Given the description of an element on the screen output the (x, y) to click on. 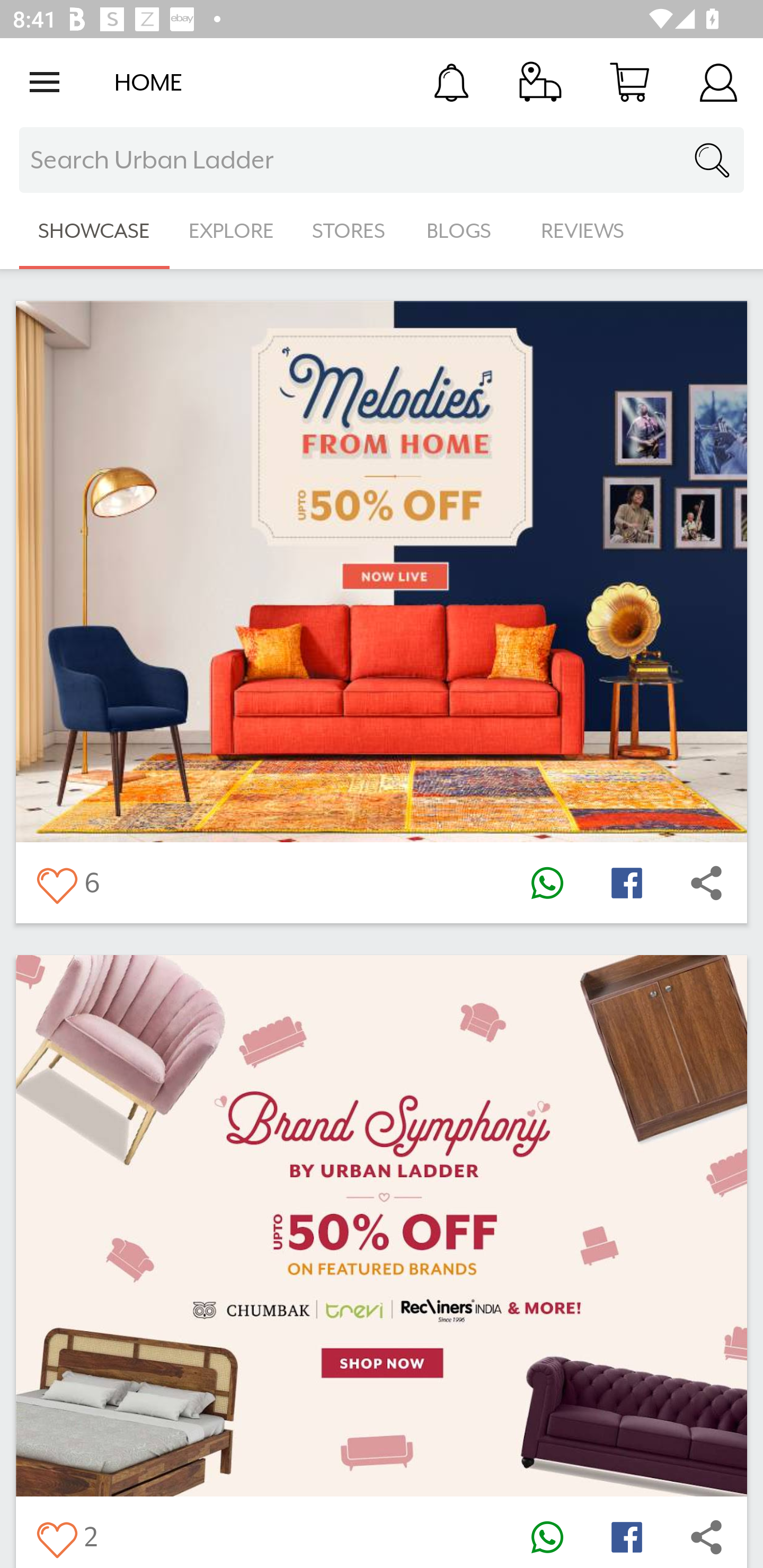
Open navigation drawer (44, 82)
Notification (450, 81)
Track Order (540, 81)
Cart (629, 81)
Account Details (718, 81)
Search Urban Ladder  (381, 159)
SHOWCASE (94, 230)
EXPLORE (230, 230)
STORES (349, 230)
BLOGS (464, 230)
REVIEWS (582, 230)
 (55, 882)
 (547, 882)
 (626, 882)
 (706, 882)
 (55, 1536)
 (547, 1536)
 (626, 1536)
 (706, 1536)
